Given the description of an element on the screen output the (x, y) to click on. 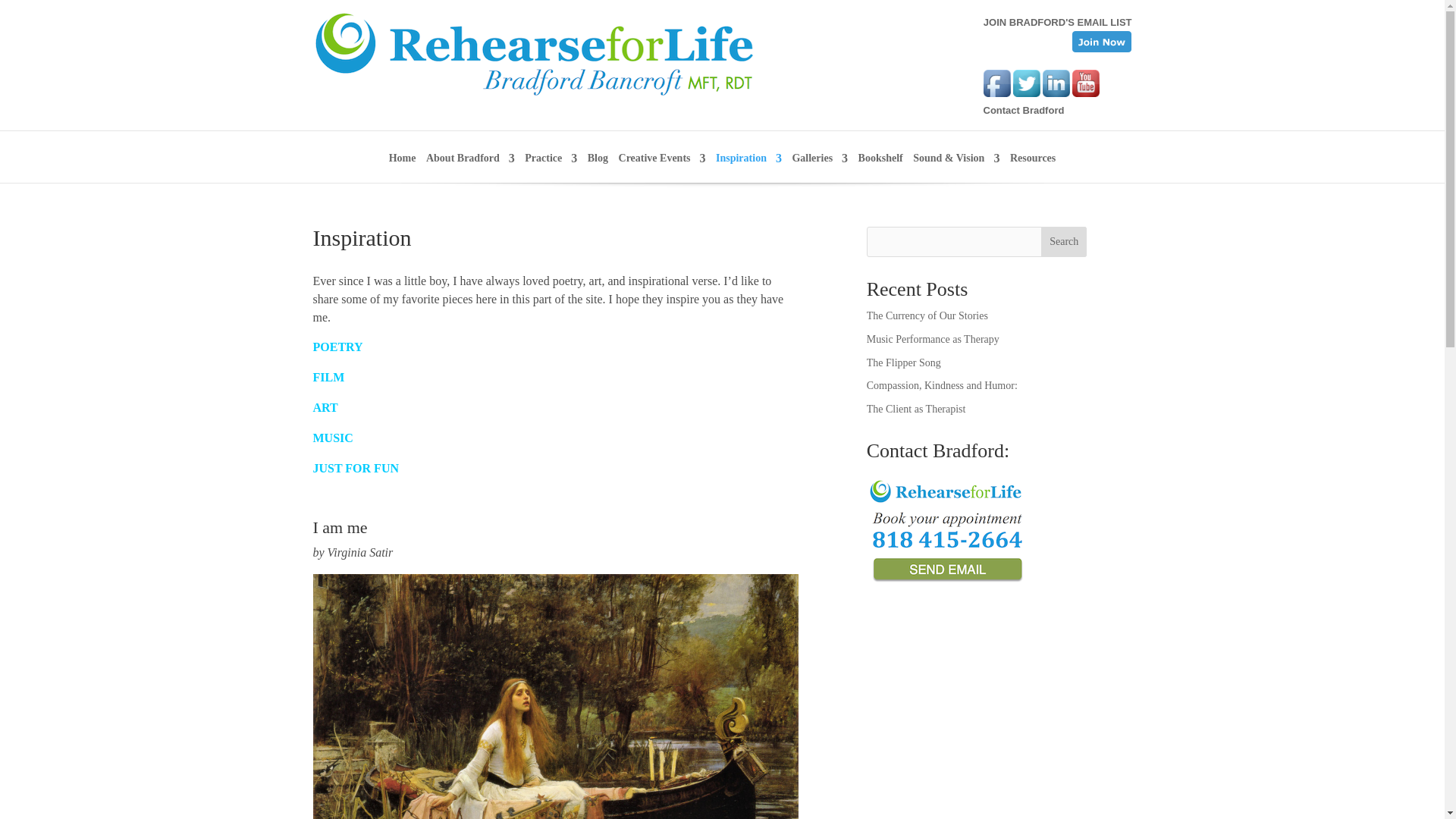
POETRY (337, 346)
Visit Us On Youtube (1085, 93)
About Bradford (470, 167)
Blog (598, 167)
Visit Us On Linkedin (1055, 93)
Bookshelf (880, 167)
Creative Events (662, 167)
MUSIC (332, 437)
Home (402, 167)
Inspiration (748, 167)
ART (325, 407)
Visit Us On Twitter (1027, 93)
Contact Bradford (1023, 110)
JUST FOR FUN (355, 468)
FILM (328, 377)
